Given the description of an element on the screen output the (x, y) to click on. 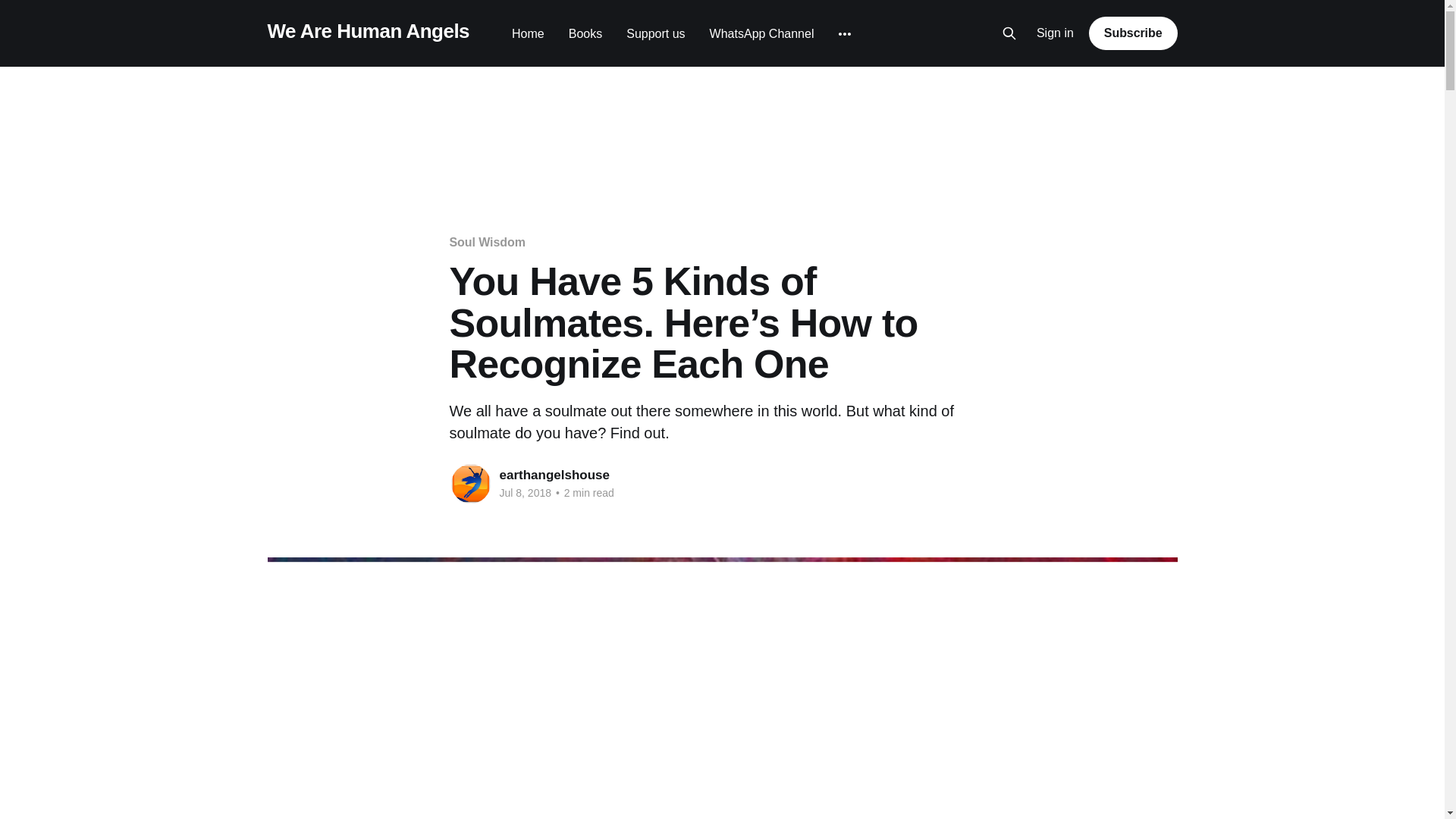
Books (585, 33)
WhatsApp Channel (761, 33)
Sign in (1055, 33)
Support us (655, 33)
We Are Human Angels (367, 31)
earthangelshouse (554, 474)
Soul Wisdom (486, 241)
Home (528, 33)
Subscribe (1133, 32)
